Given the description of an element on the screen output the (x, y) to click on. 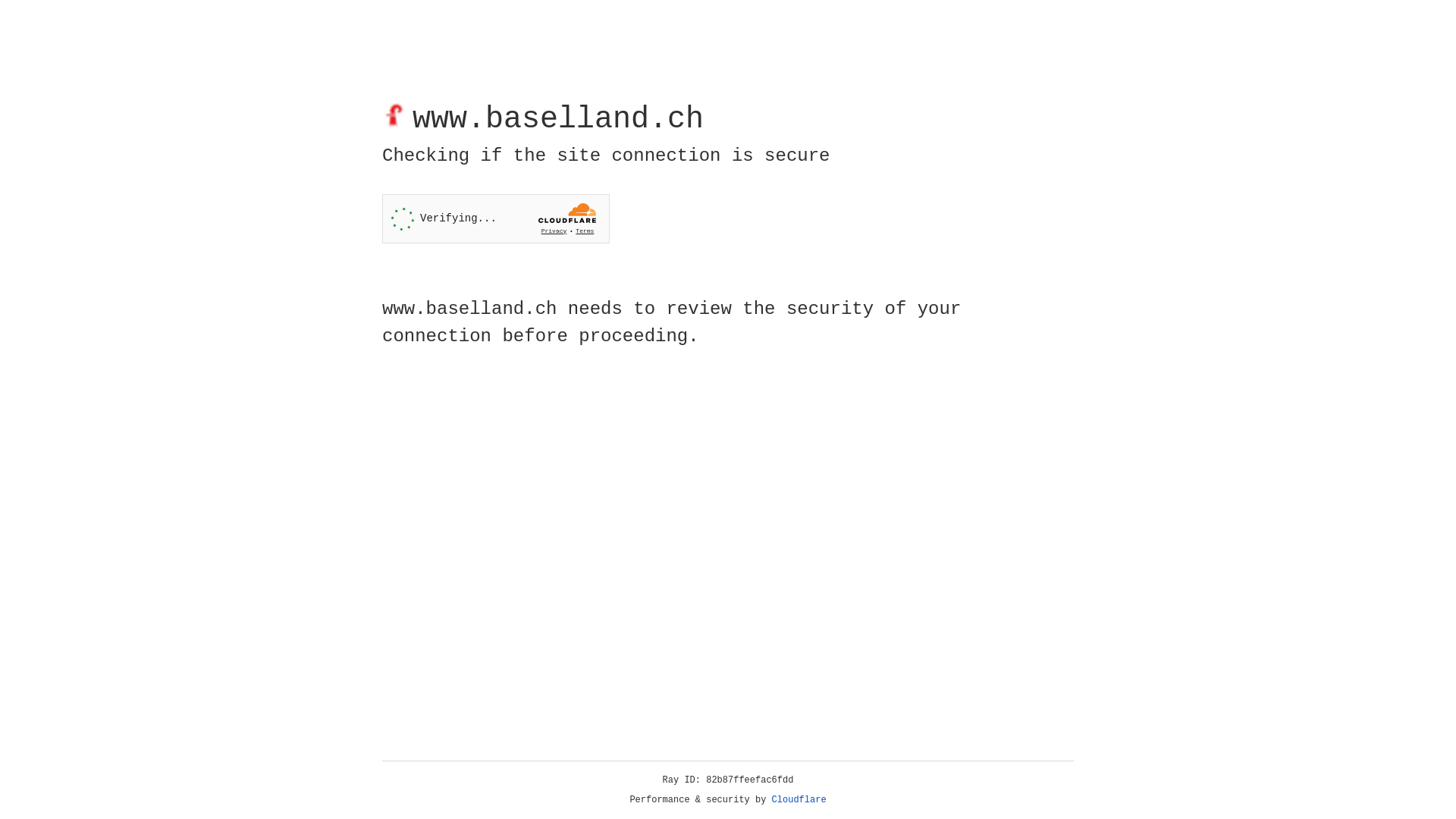
Widget containing a Cloudflare security challenge Element type: hover (495, 218)
Cloudflare Element type: text (798, 799)
